Given the description of an element on the screen output the (x, y) to click on. 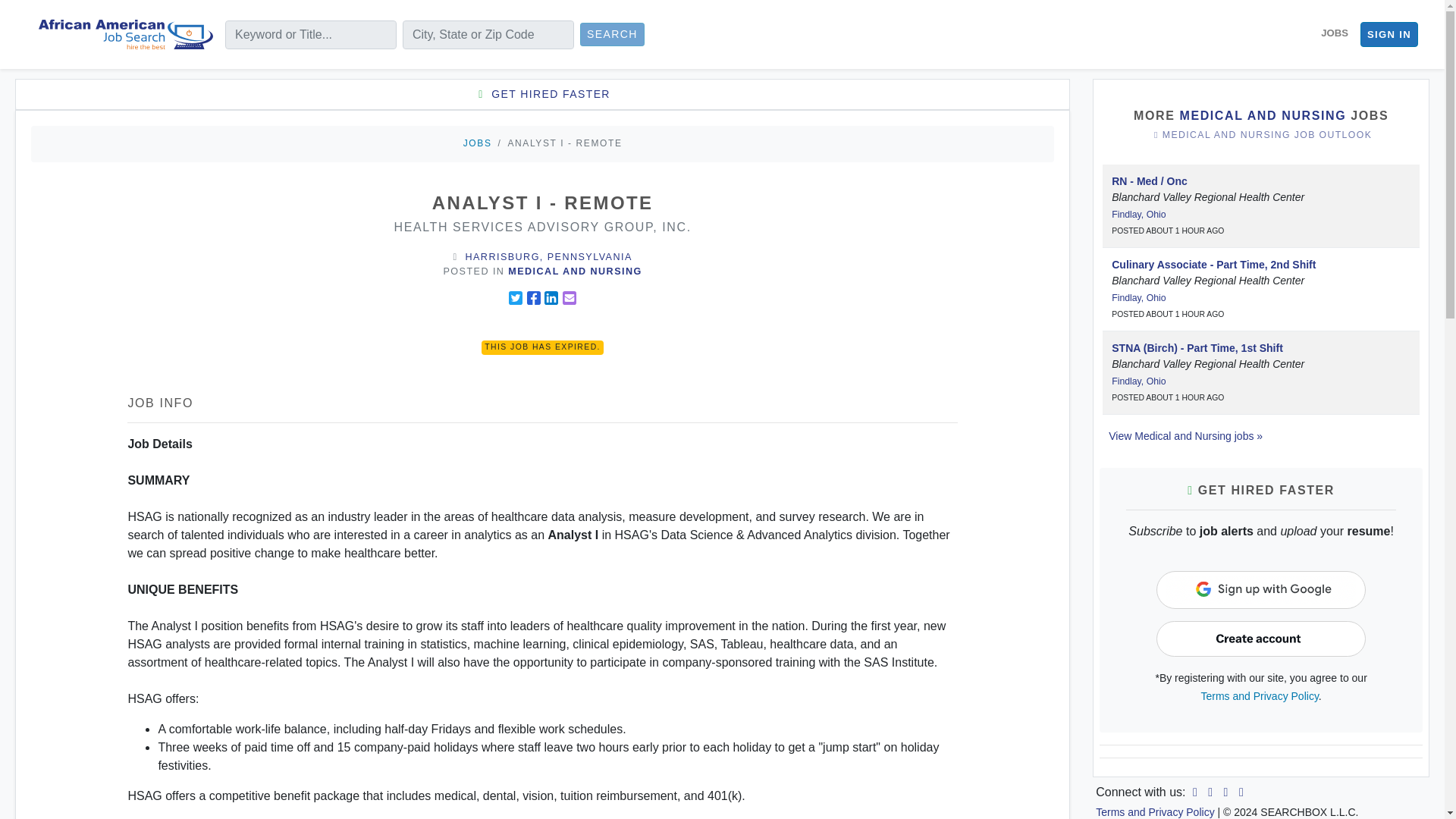
Share to Twitter (515, 297)
Share to Email (569, 297)
MEDICAL AND NURSING JOB OUTLOOK (1260, 134)
Findlay, Ohio (1139, 214)
SEARCH (612, 33)
Email African American Job Search (1240, 791)
Share to Linkedin (550, 297)
Terms and Privacy Policy (1155, 811)
GET HIRED FASTER (541, 94)
HARRISBURG, PENNSYLVANIA (548, 256)
